Given the description of an element on the screen output the (x, y) to click on. 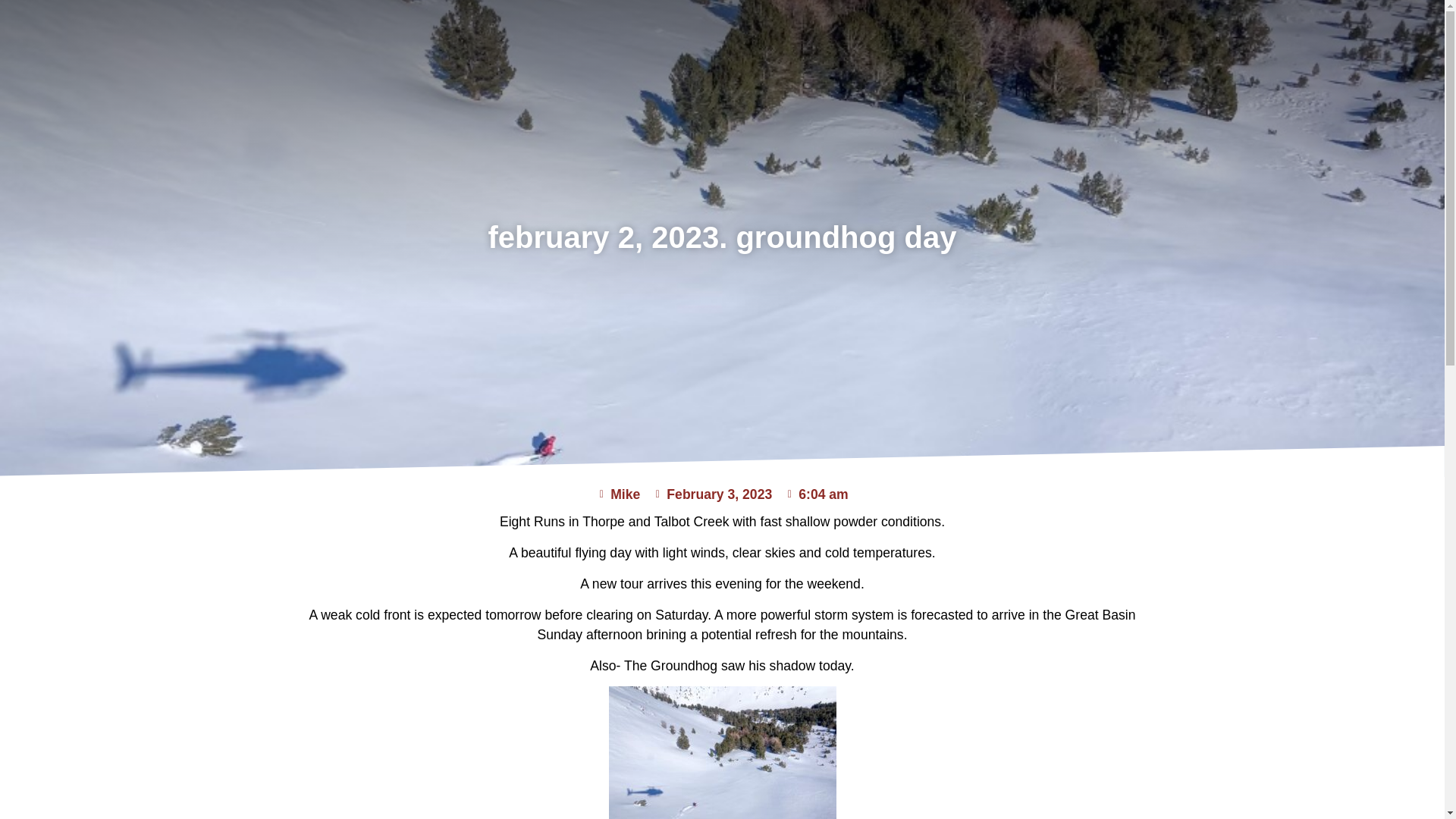
the skiing (882, 24)
conditions (1113, 24)
our story (770, 24)
contact (1323, 24)
February 3, 2023 (711, 494)
Mike (617, 494)
the lodge (996, 24)
booking (1224, 24)
